Given the description of an element on the screen output the (x, y) to click on. 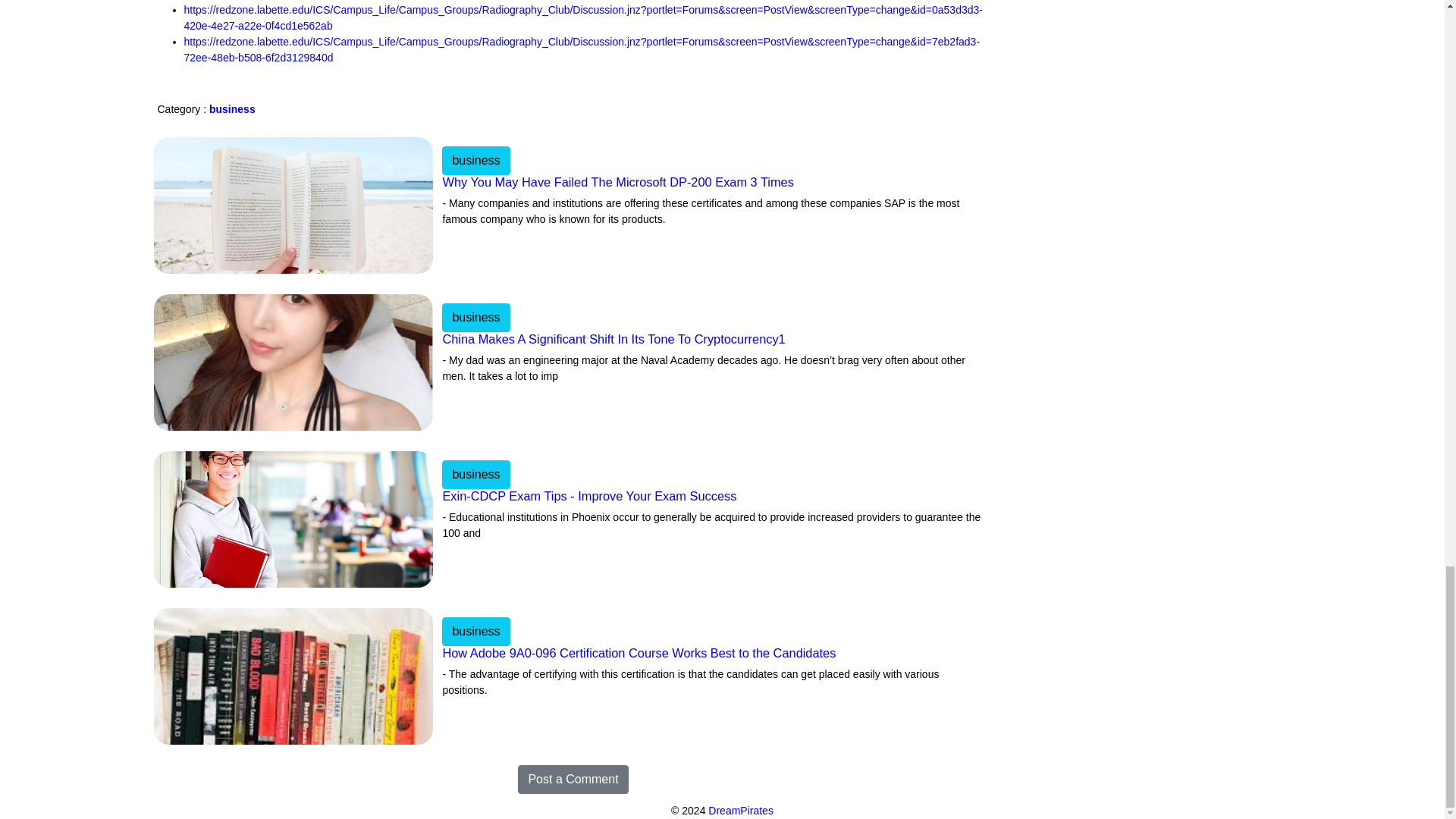
business (475, 472)
business (475, 631)
Why You May Have Failed The Microsoft DP-200 Exam 3 Times (713, 193)
business (475, 630)
business (475, 317)
business (475, 159)
business (232, 109)
business (475, 316)
